Given the description of an element on the screen output the (x, y) to click on. 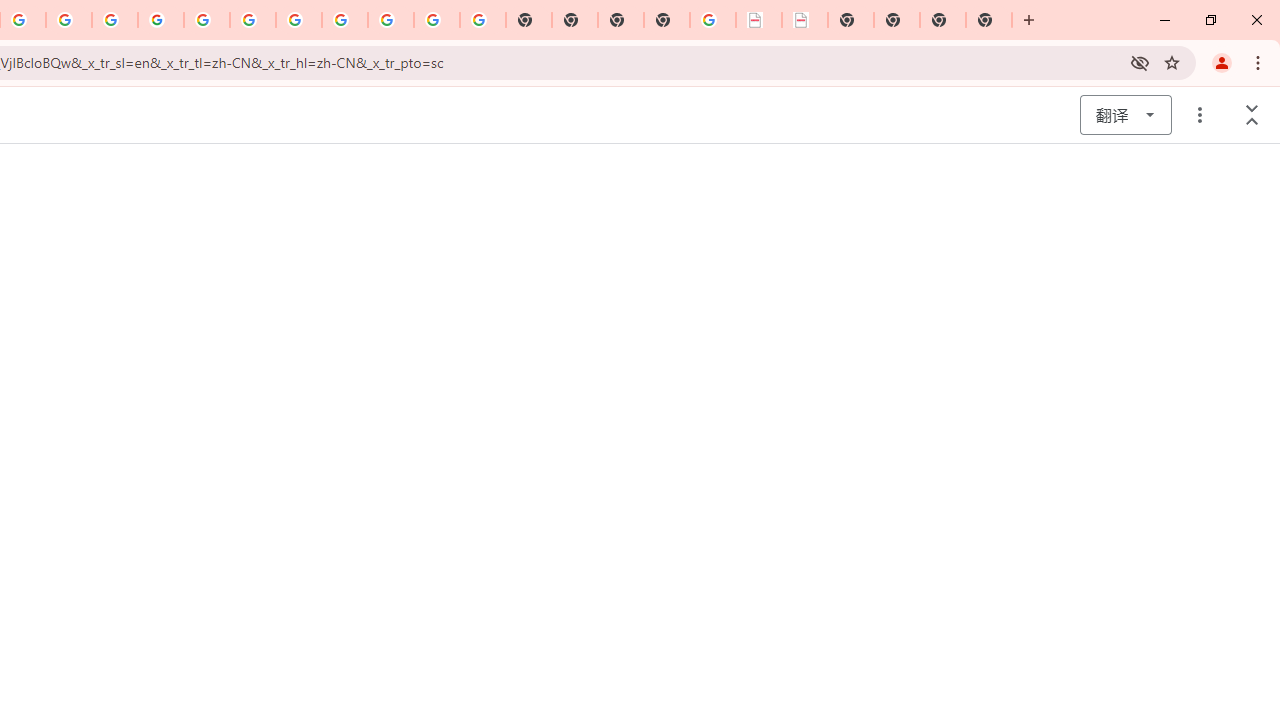
LAAD Defence & Security 2025 | BAE Systems (759, 20)
YouTube (207, 20)
New Tab (666, 20)
Privacy Help Center - Policies Help (69, 20)
